Given the description of an element on the screen output the (x, y) to click on. 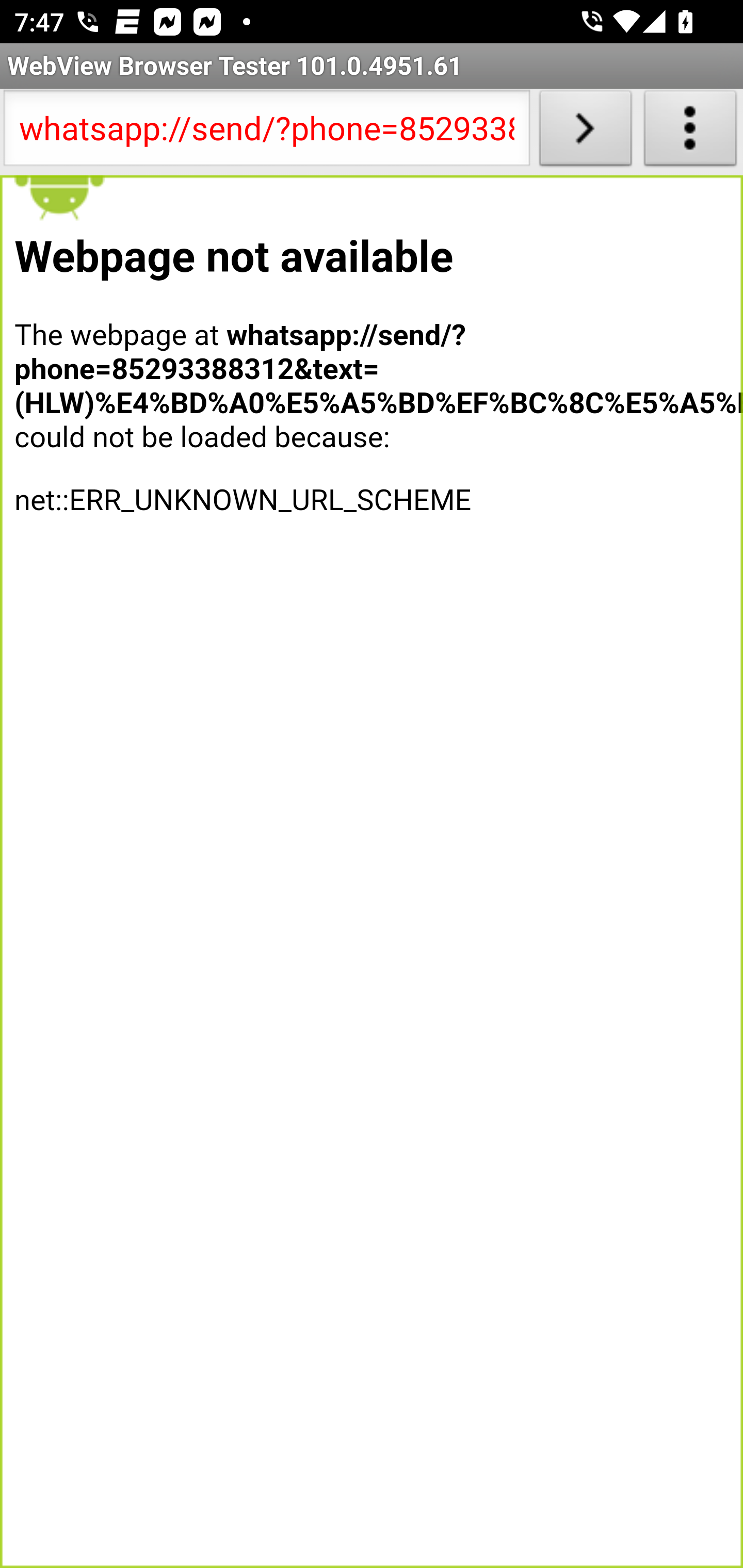
Load URL (585, 132)
About WebView (690, 132)
